Given the description of an element on the screen output the (x, y) to click on. 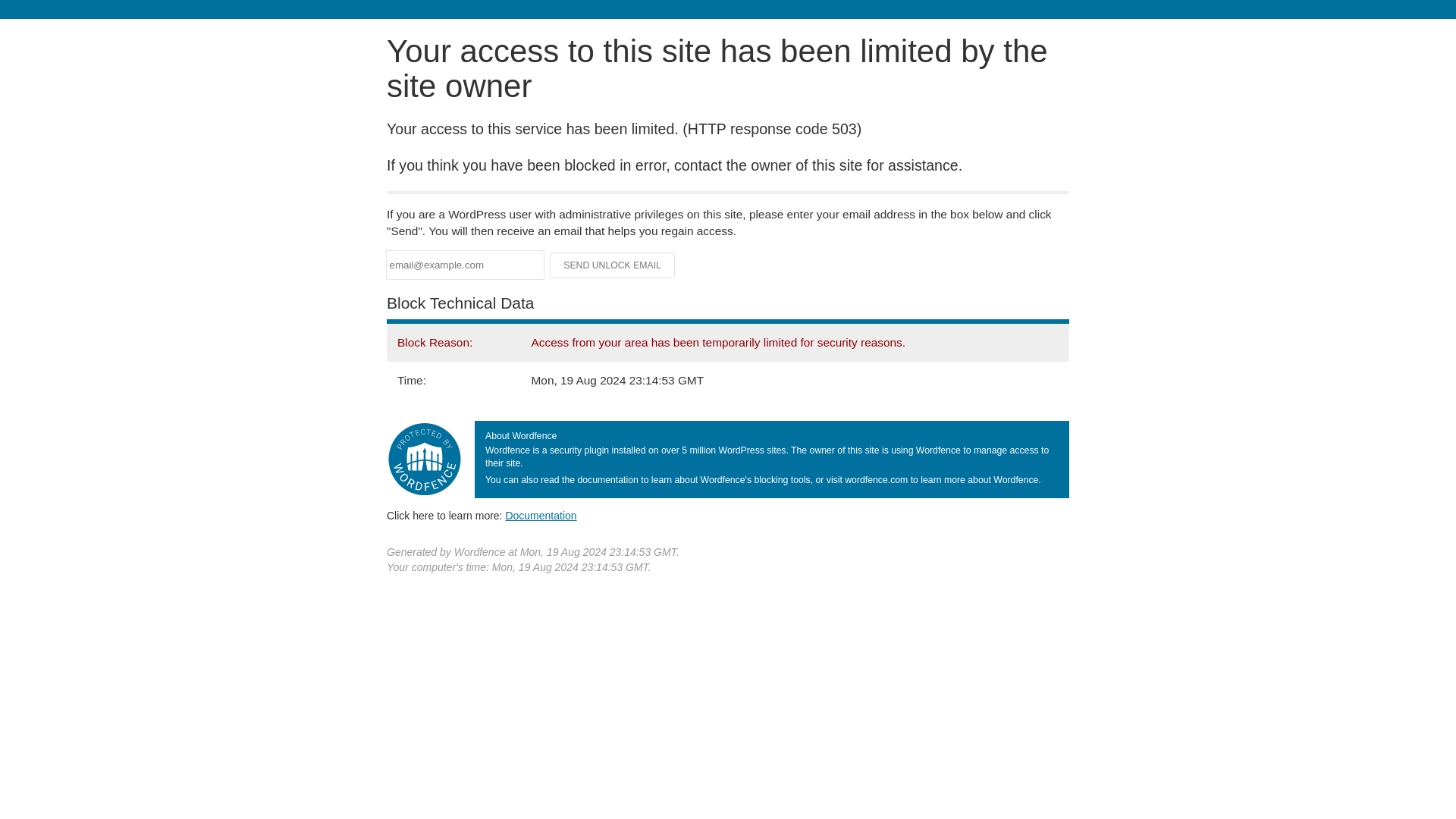
Documentation (540, 515)
Send Unlock Email (612, 265)
Send Unlock Email (612, 265)
